Given the description of an element on the screen output the (x, y) to click on. 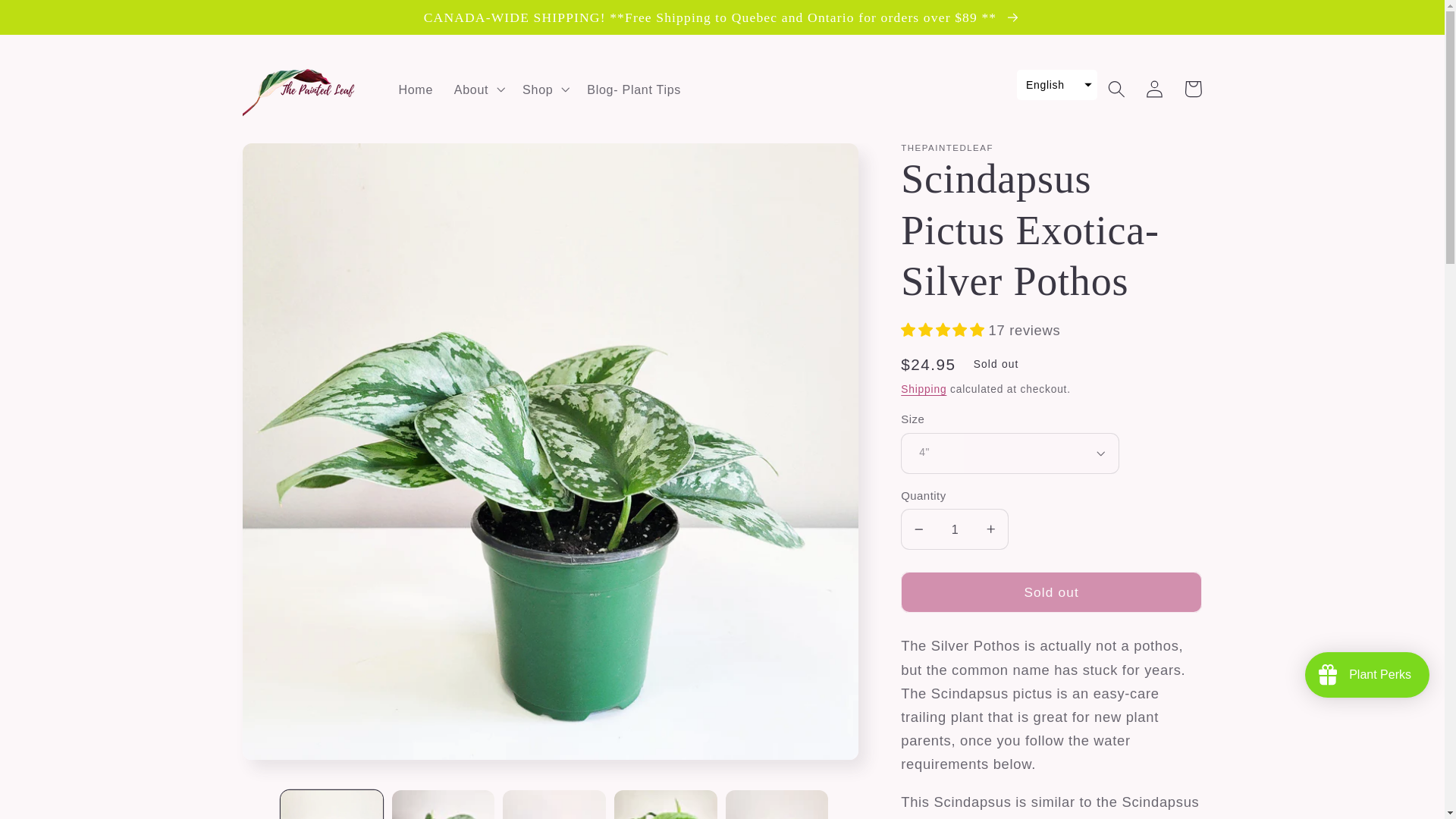
Home (416, 89)
Log in (1154, 88)
Cart (1192, 88)
Skip to content (52, 20)
1 (955, 528)
Blog- Plant Tips (633, 89)
